Given the description of an element on the screen output the (x, y) to click on. 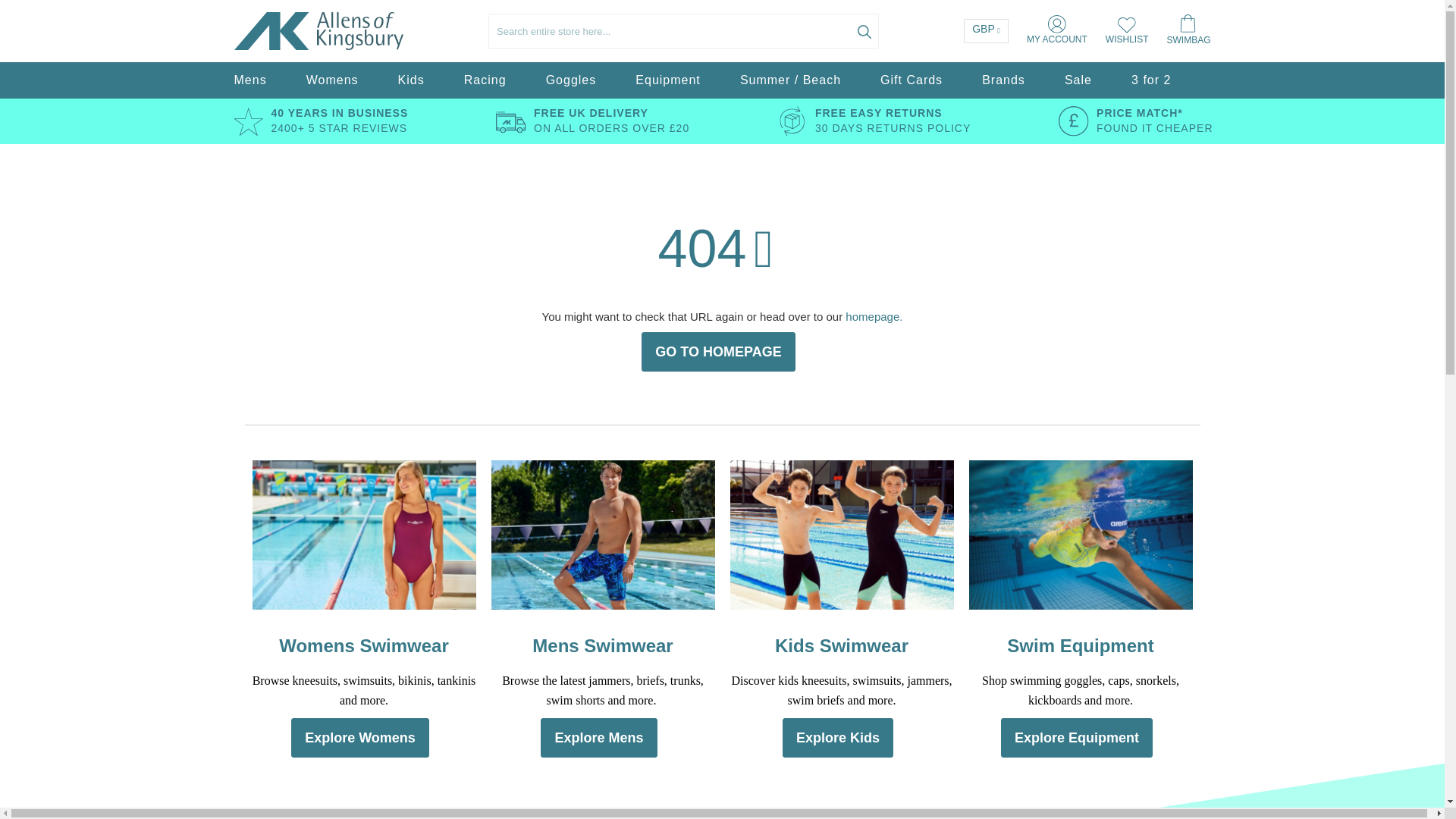
Allens Swimwear Logo (317, 31)
Mens (249, 80)
Allens Swimwear Logo (270, 30)
Mens (249, 80)
